Given the description of an element on the screen output the (x, y) to click on. 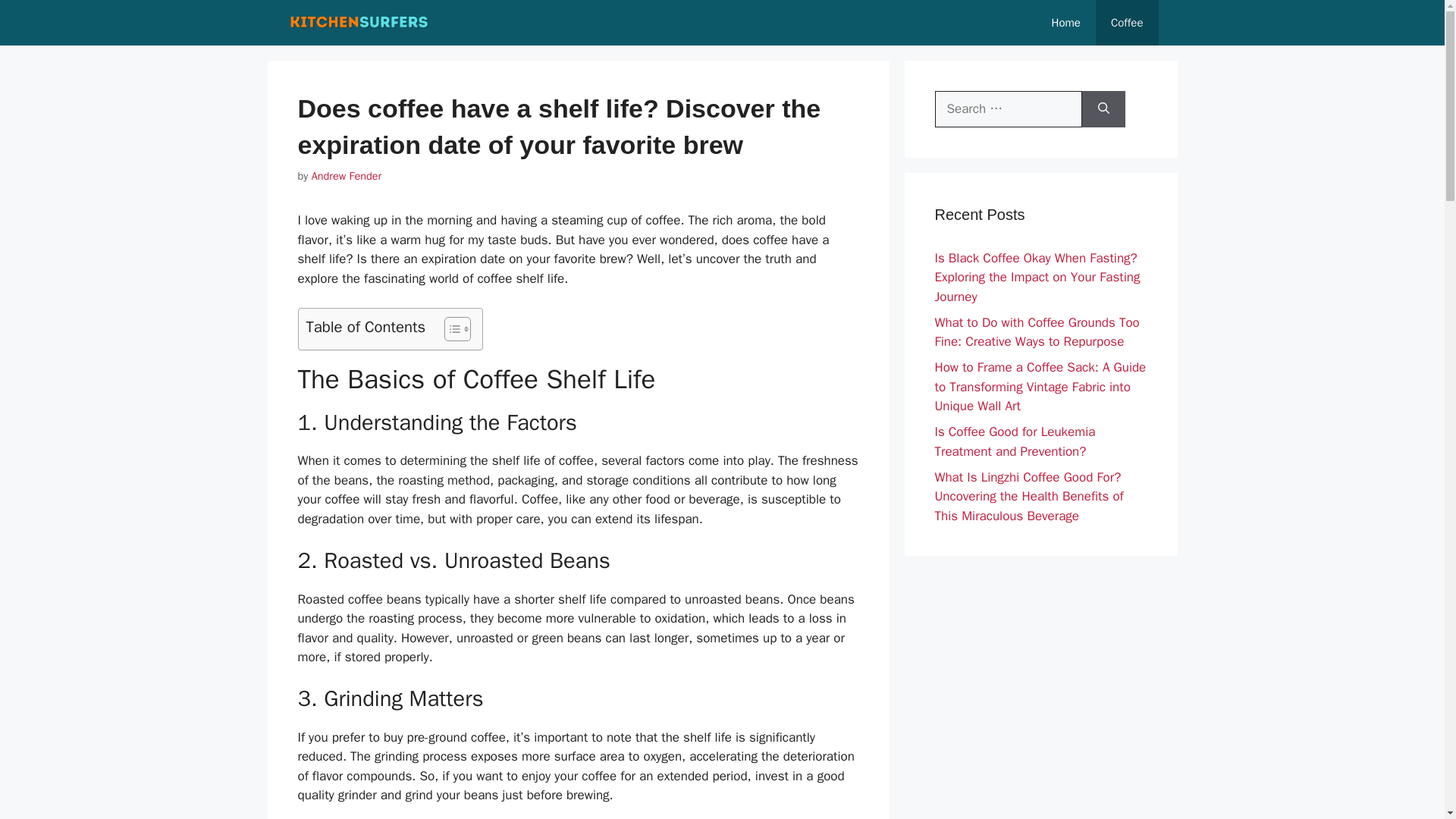
Home (1066, 22)
View all posts by Andrew Fender (346, 175)
Coffee (1127, 22)
Is Coffee Good for Leukemia Treatment and Prevention? (1014, 441)
KitchenSurfers (359, 22)
Andrew Fender (346, 175)
